Given the description of an element on the screen output the (x, y) to click on. 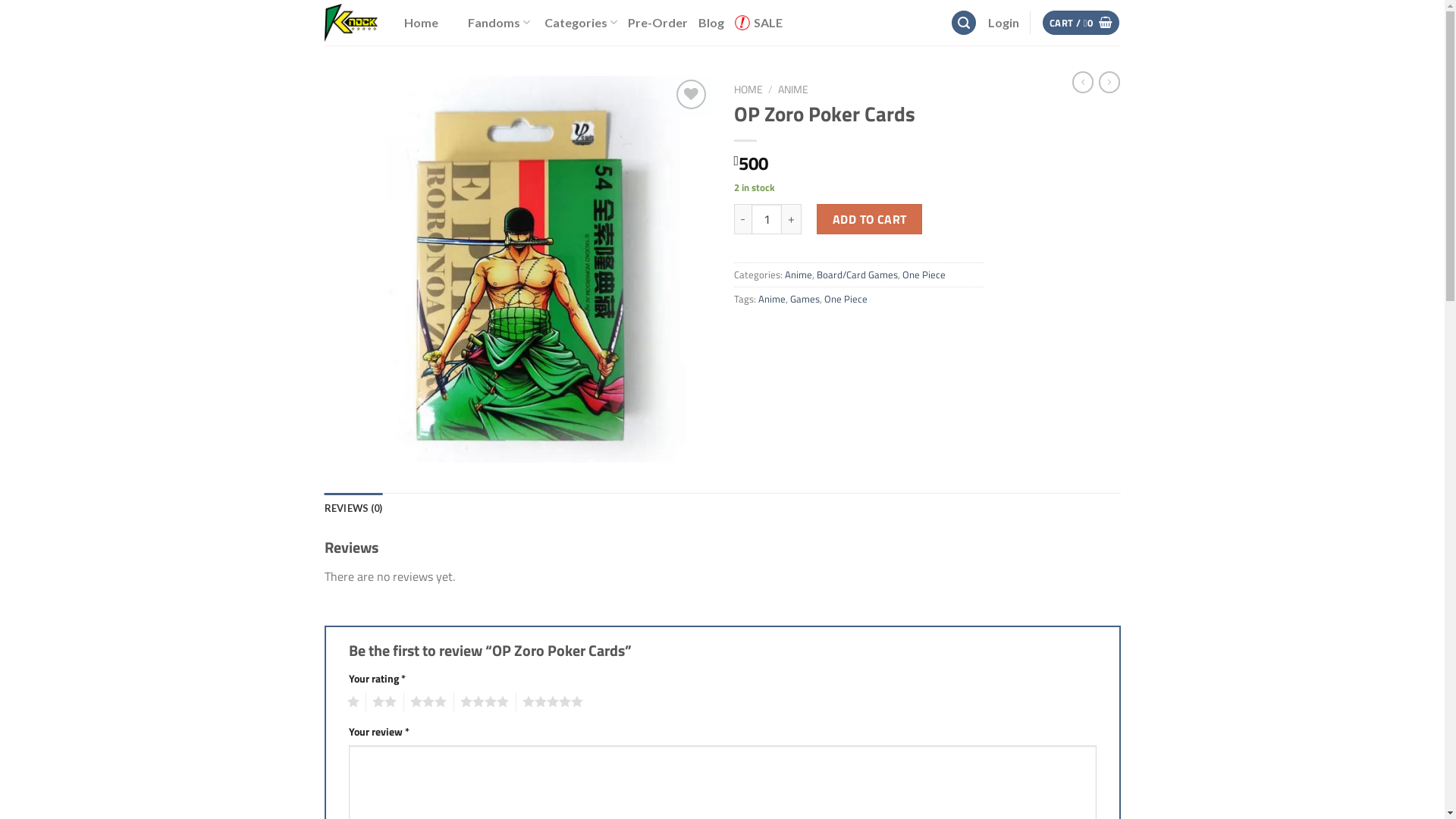
3 Element type: text (424, 702)
HOME Element type: text (748, 89)
Anime Element type: text (771, 298)
REVIEWS (0) Element type: text (353, 507)
SALE Element type: text (758, 22)
Categories Element type: text (580, 22)
Blog Element type: text (711, 22)
ADD TO CART Element type: text (869, 218)
4 Element type: text (480, 702)
1 Element type: text (350, 702)
Login Element type: text (1002, 22)
Board/Card Games Element type: text (856, 274)
One Piece Element type: text (923, 274)
Games Element type: text (804, 298)
Knock - Get them all Element type: hover (352, 22)
ANIME Element type: text (793, 89)
Fandoms Element type: text (490, 22)
Anime Element type: text (797, 274)
Home Element type: text (420, 22)
One Piece Element type: text (844, 298)
5 Element type: text (549, 702)
Pre-Order Element type: text (657, 22)
2 Element type: text (380, 702)
